Given the description of an element on the screen output the (x, y) to click on. 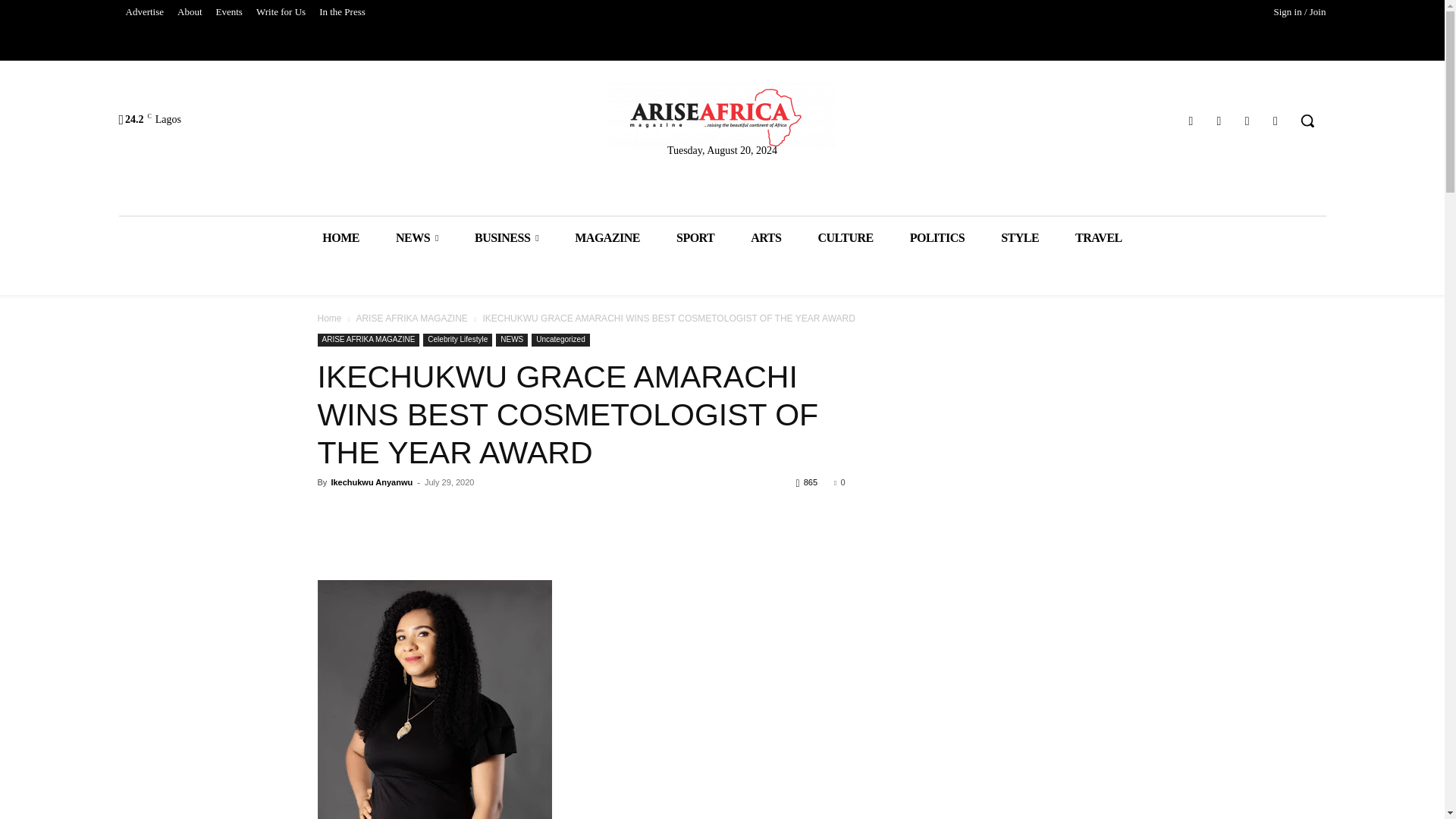
NEWS (417, 237)
HOME (340, 237)
In the Press (342, 12)
Events (228, 12)
Twitter (1246, 120)
Facebook (1190, 120)
Youtube (1275, 120)
Write for Us (280, 12)
About (189, 12)
Advertise (143, 12)
